Given the description of an element on the screen output the (x, y) to click on. 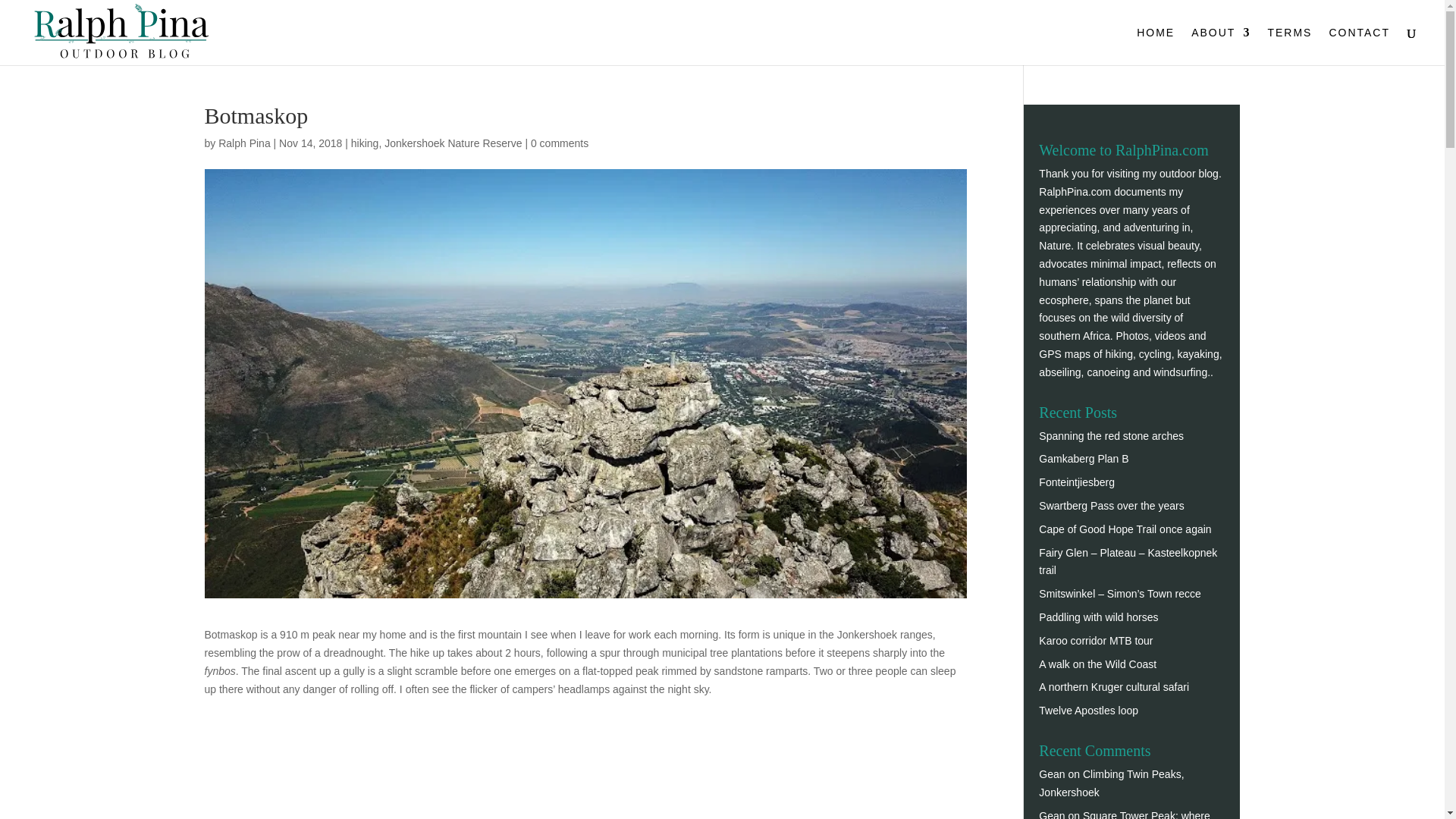
RalphPina.com (1074, 191)
Posts by Ralph Pina (244, 143)
Fonteintjiesberg (1077, 481)
Ralph Pina (244, 143)
Cape of Good Hope Trail once again (1125, 529)
hiking (364, 143)
CONTACT (1358, 46)
HOME (1155, 46)
Jonkershoek Nature Reserve (452, 143)
ABOUT (1220, 46)
